Given the description of an element on the screen output the (x, y) to click on. 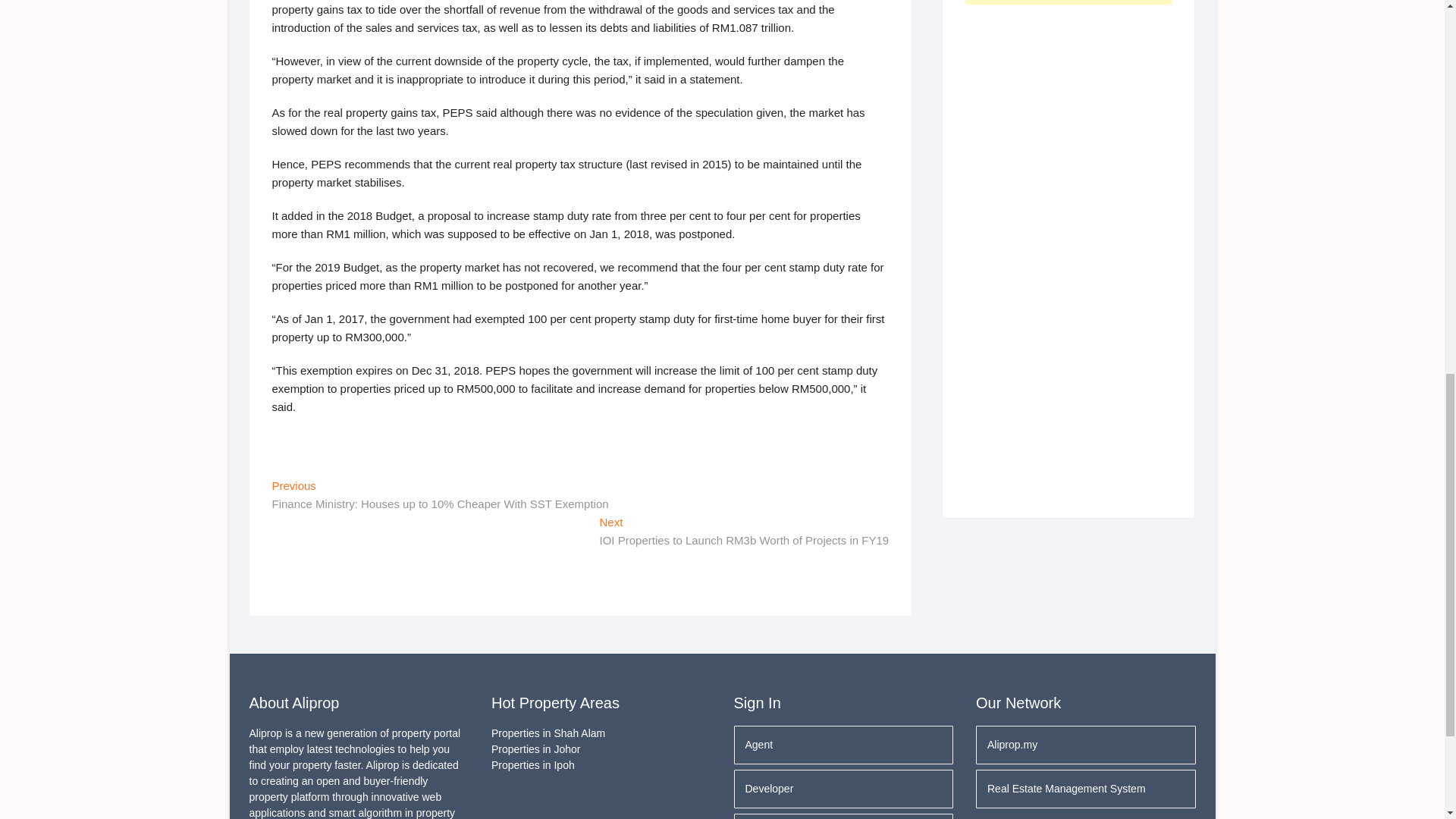
Real Estate Management System (1085, 788)
Agent (843, 744)
Properties in Shah Alam (601, 733)
Advertiser (843, 816)
Aliprop.my (1085, 744)
Developer (843, 788)
Properties in Ipoh (601, 765)
Properties in Johor (601, 749)
